Given the description of an element on the screen output the (x, y) to click on. 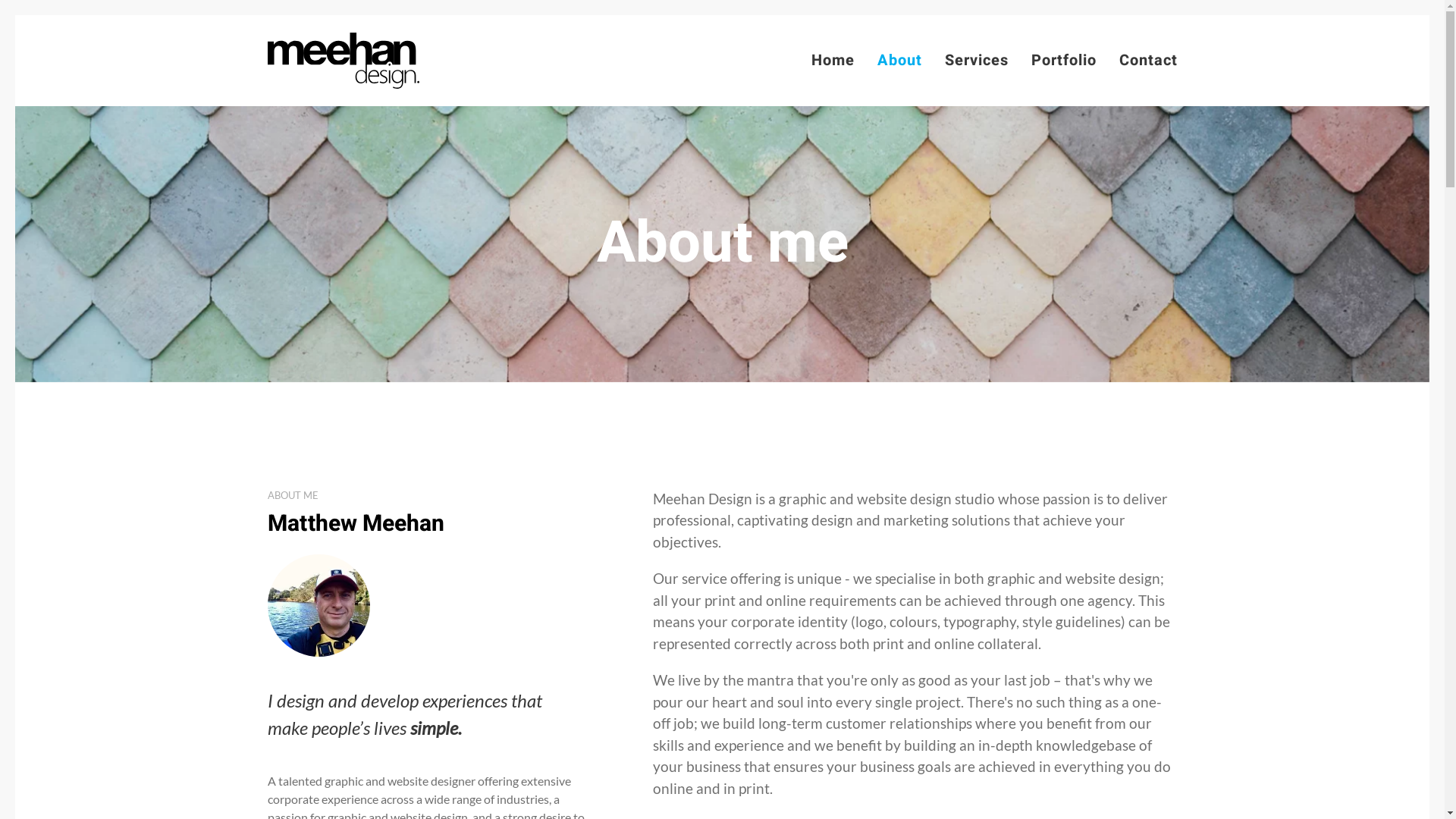
Home Element type: text (832, 60)
Contact Element type: text (1148, 60)
About Element type: text (898, 60)
Portfolio Element type: text (1063, 60)
Services Element type: text (976, 60)
